Given the description of an element on the screen output the (x, y) to click on. 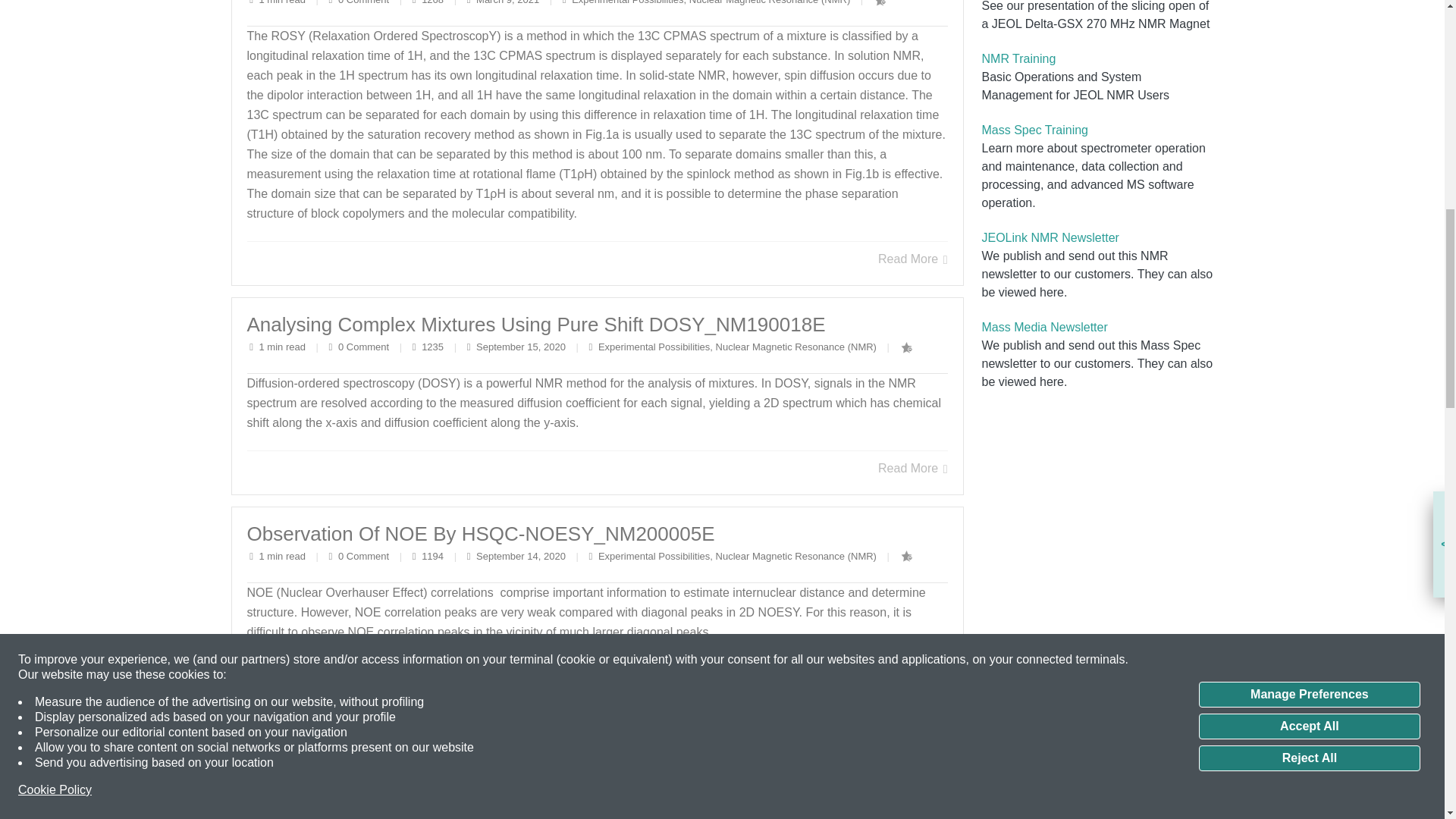
You must be logged in to bookmark (875, 766)
You must be logged in to bookmark (906, 556)
You must be logged in to bookmark (906, 347)
You must be logged in to bookmark (879, 3)
